Given the description of an element on the screen output the (x, y) to click on. 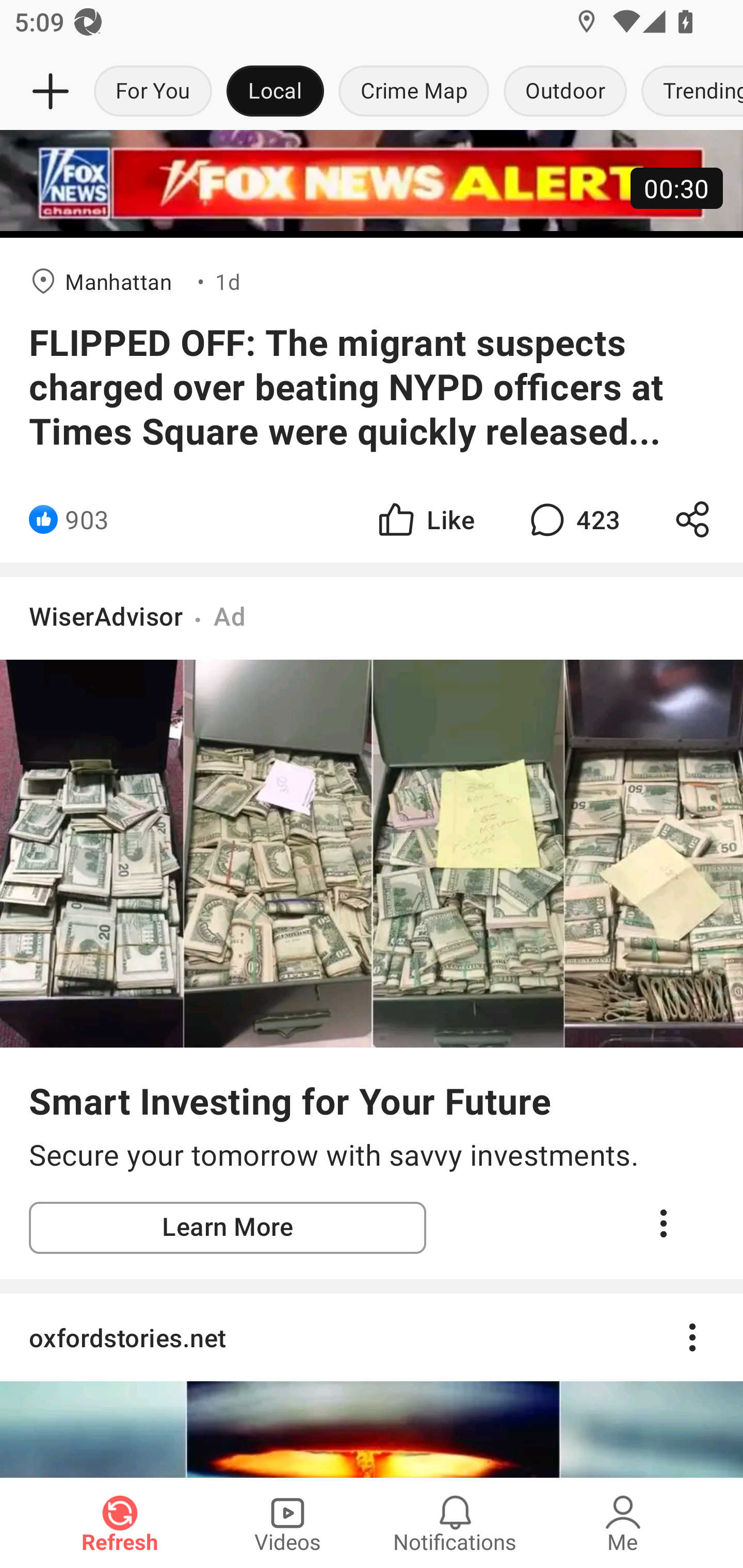
For You (152, 91)
Local (275, 91)
Crime Map (413, 91)
Outdoor (564, 91)
Trending (688, 91)
903 (87, 519)
Like (425, 519)
423 (572, 519)
WiserAdvisor (105, 615)
Smart Investing for Your Future (289, 1100)
Secure your tomorrow with savvy investments. (371, 1155)
Learn More (227, 1227)
oxfordstories.net (371, 1337)
Videos (287, 1522)
Notifications (455, 1522)
Me (622, 1522)
